Given the description of an element on the screen output the (x, y) to click on. 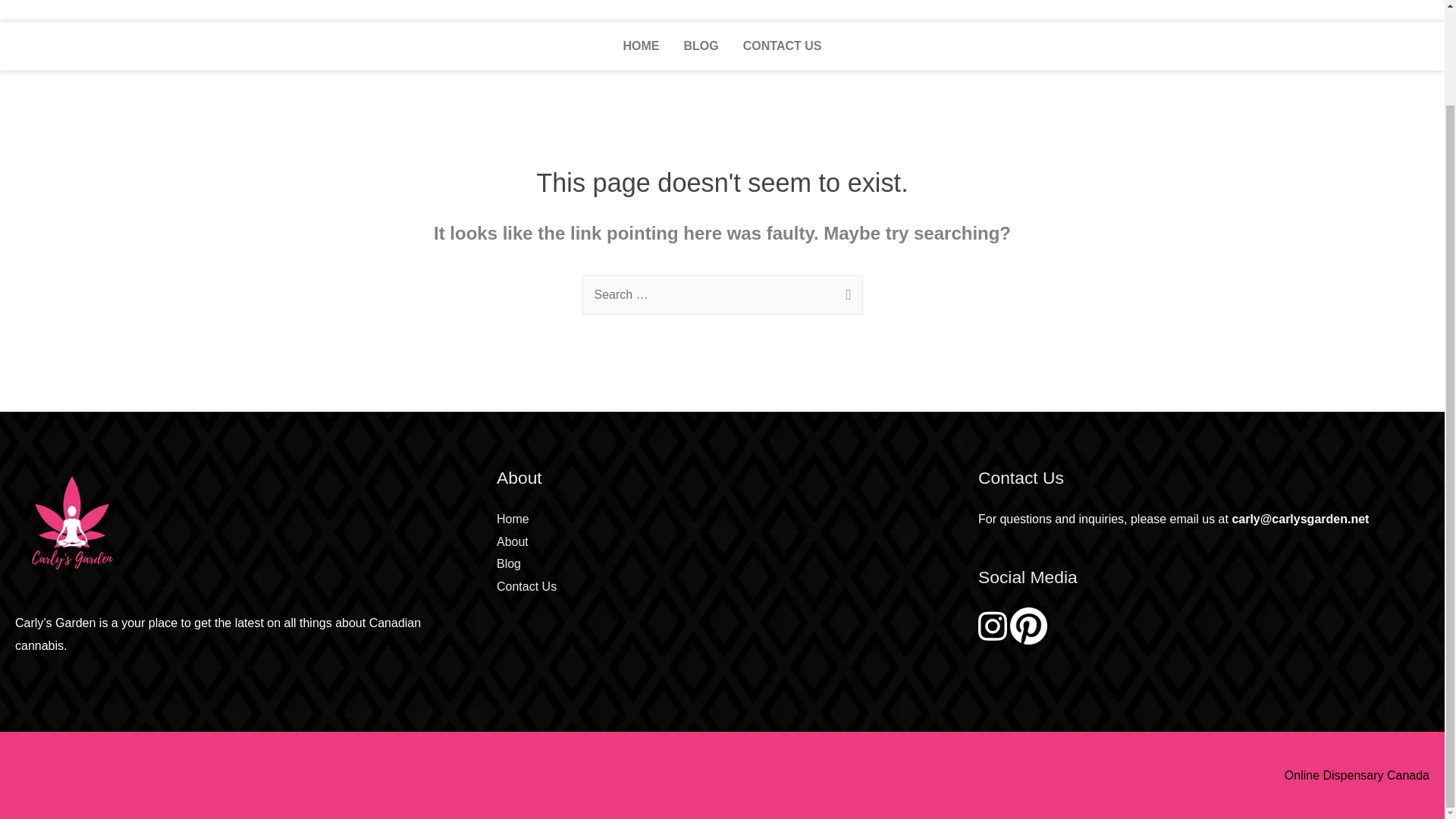
Contact Us (526, 585)
BLOG (700, 46)
About (512, 541)
CONTACT US (782, 46)
Home (512, 518)
Blog (508, 563)
HOME (641, 46)
